Given the description of an element on the screen output the (x, y) to click on. 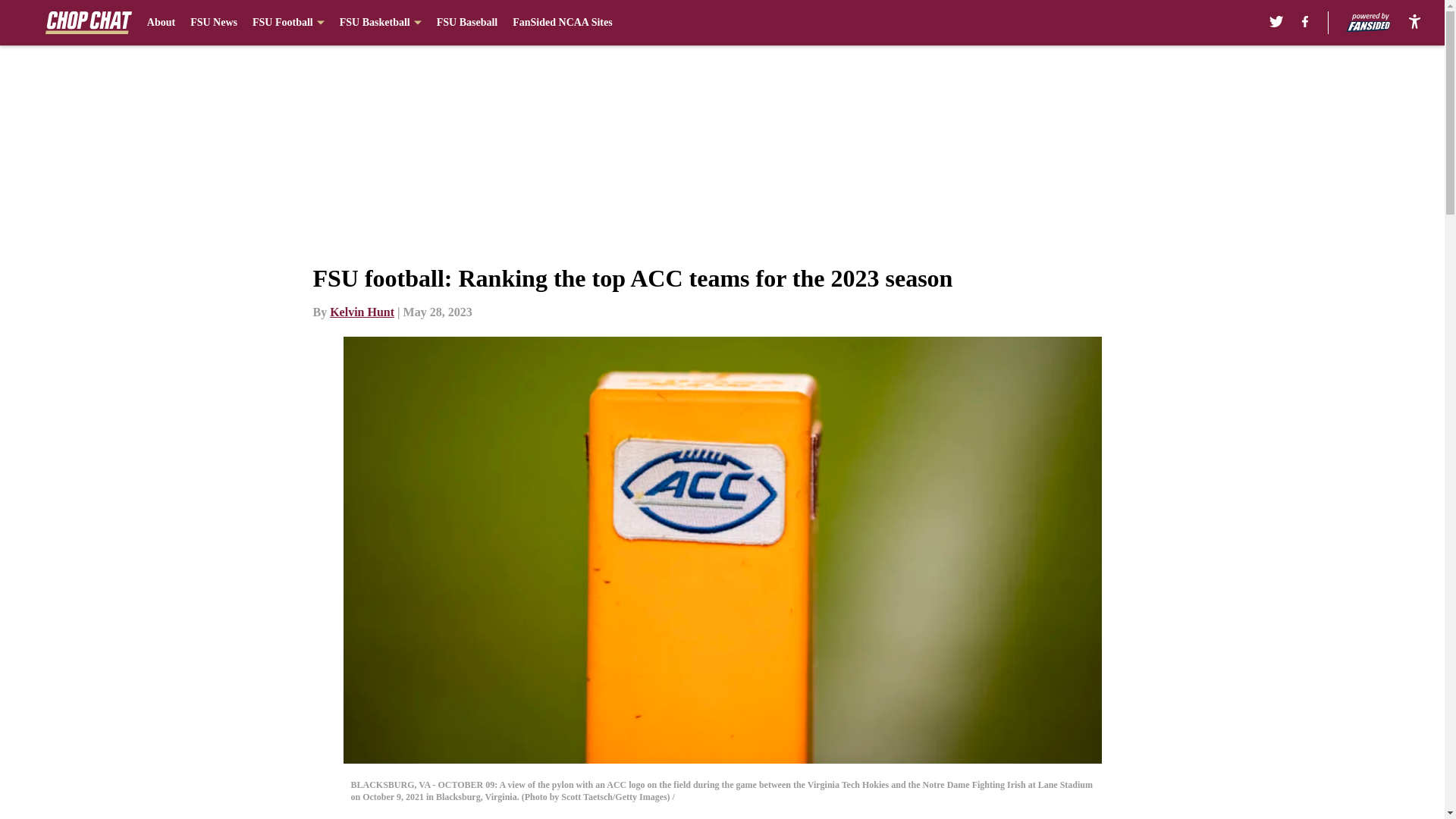
FanSided NCAA Sites (561, 22)
FSU Baseball (466, 22)
FSU News (213, 22)
Kelvin Hunt (362, 311)
About (160, 22)
